Given the description of an element on the screen output the (x, y) to click on. 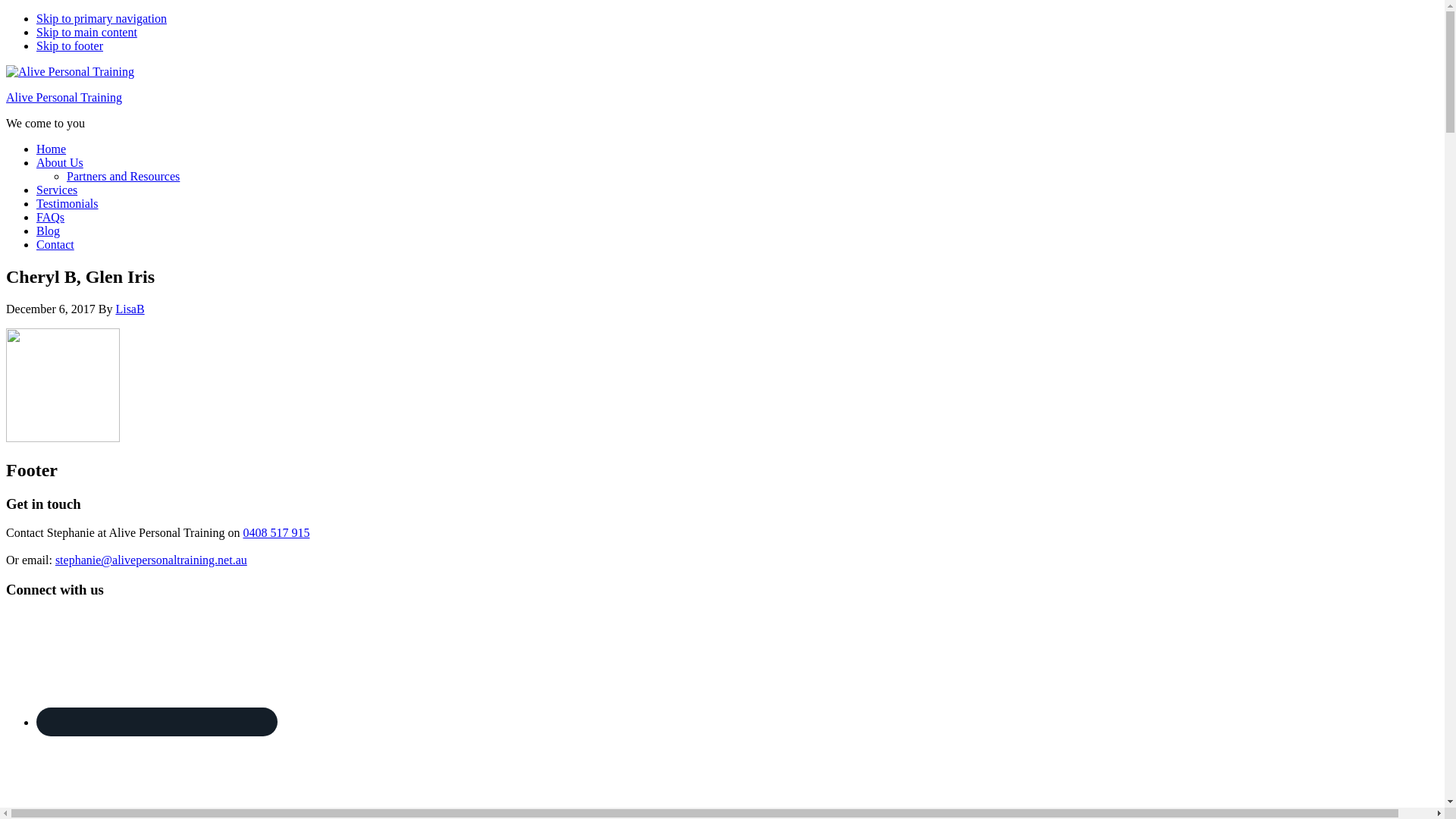
Skip to main content Element type: text (86, 31)
Skip to footer Element type: text (69, 45)
FAQs Element type: text (50, 216)
Home Element type: text (50, 148)
stephanie@alivepersonaltraining.net.au Element type: text (151, 559)
Partners and Resources Element type: text (122, 175)
Facebook Element type: text (156, 721)
Skip to primary navigation Element type: text (101, 18)
Contact Element type: text (55, 244)
LisaB Element type: text (129, 308)
Blog Element type: text (47, 230)
0408 517 915 Element type: text (275, 532)
Services Element type: text (56, 189)
Alive Personal Training Element type: text (64, 97)
Testimonials Element type: text (67, 203)
About Us Element type: text (59, 162)
